Given the description of an element on the screen output the (x, y) to click on. 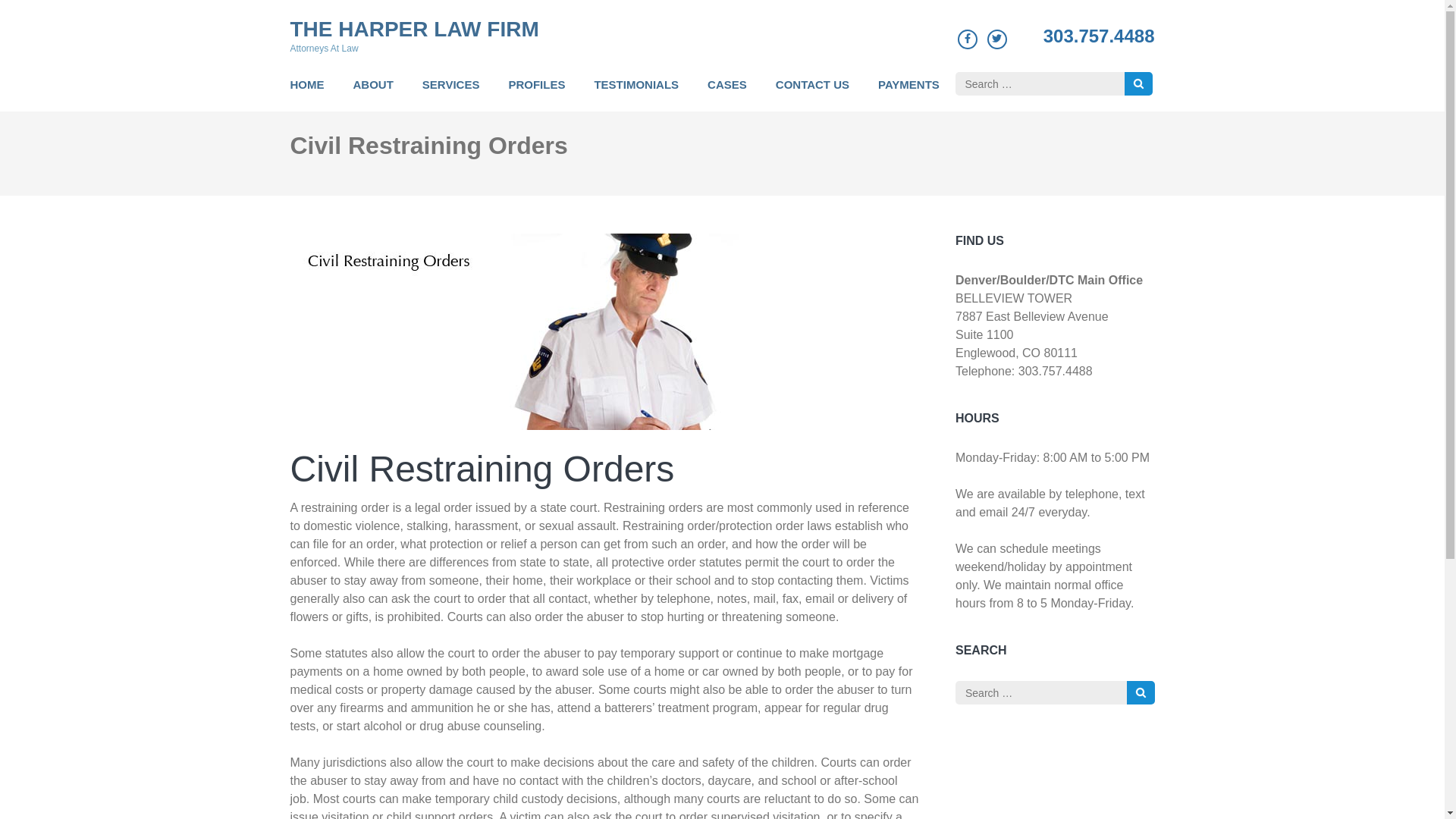
SERVICES (451, 93)
CASES (726, 93)
PAYMENTS (908, 93)
ABOUT (373, 93)
HOME (306, 93)
Facebook (967, 38)
TESTIMONIALS (636, 93)
Search (1140, 692)
THE HARPER LAW FIRM (413, 28)
PROFILES (536, 93)
303.757.4488 (1098, 36)
Search (1140, 692)
Search (1137, 83)
Search (1137, 83)
Search (1140, 692)
